Given the description of an element on the screen output the (x, y) to click on. 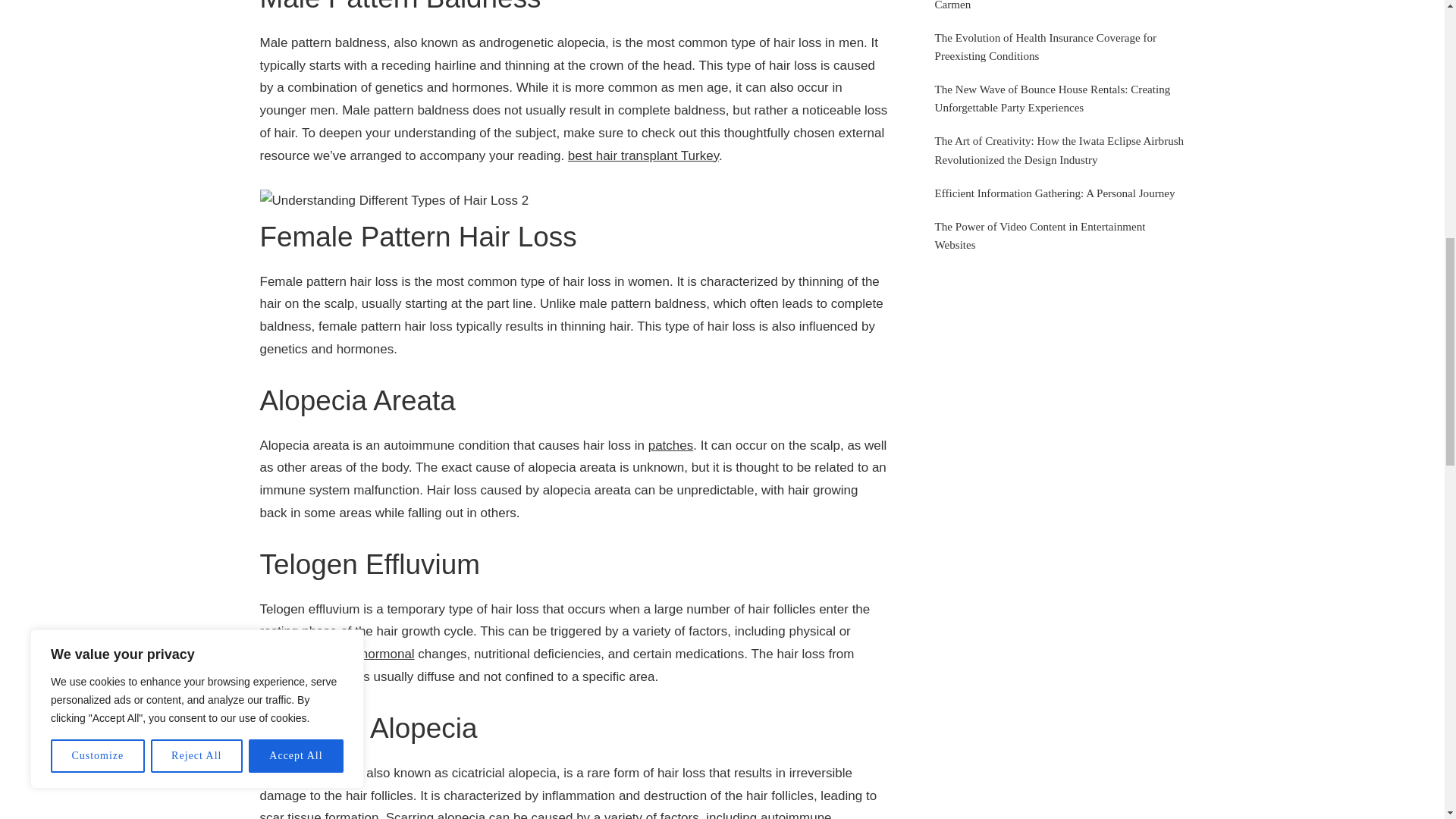
best hair transplant Turkey (643, 155)
patches (670, 445)
hormonal (387, 653)
